Given the description of an element on the screen output the (x, y) to click on. 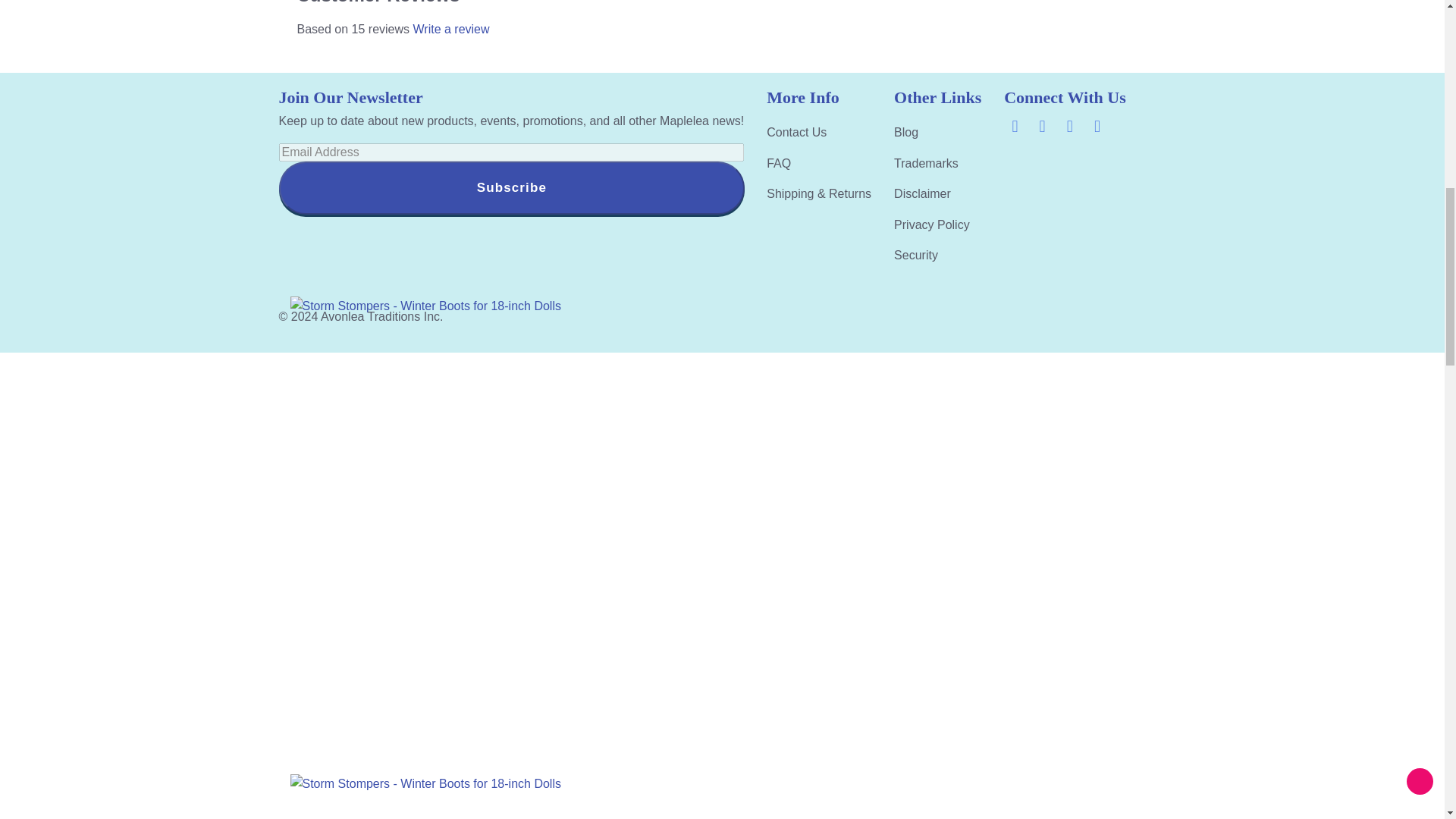
Subscribe (511, 187)
